Given the description of an element on the screen output the (x, y) to click on. 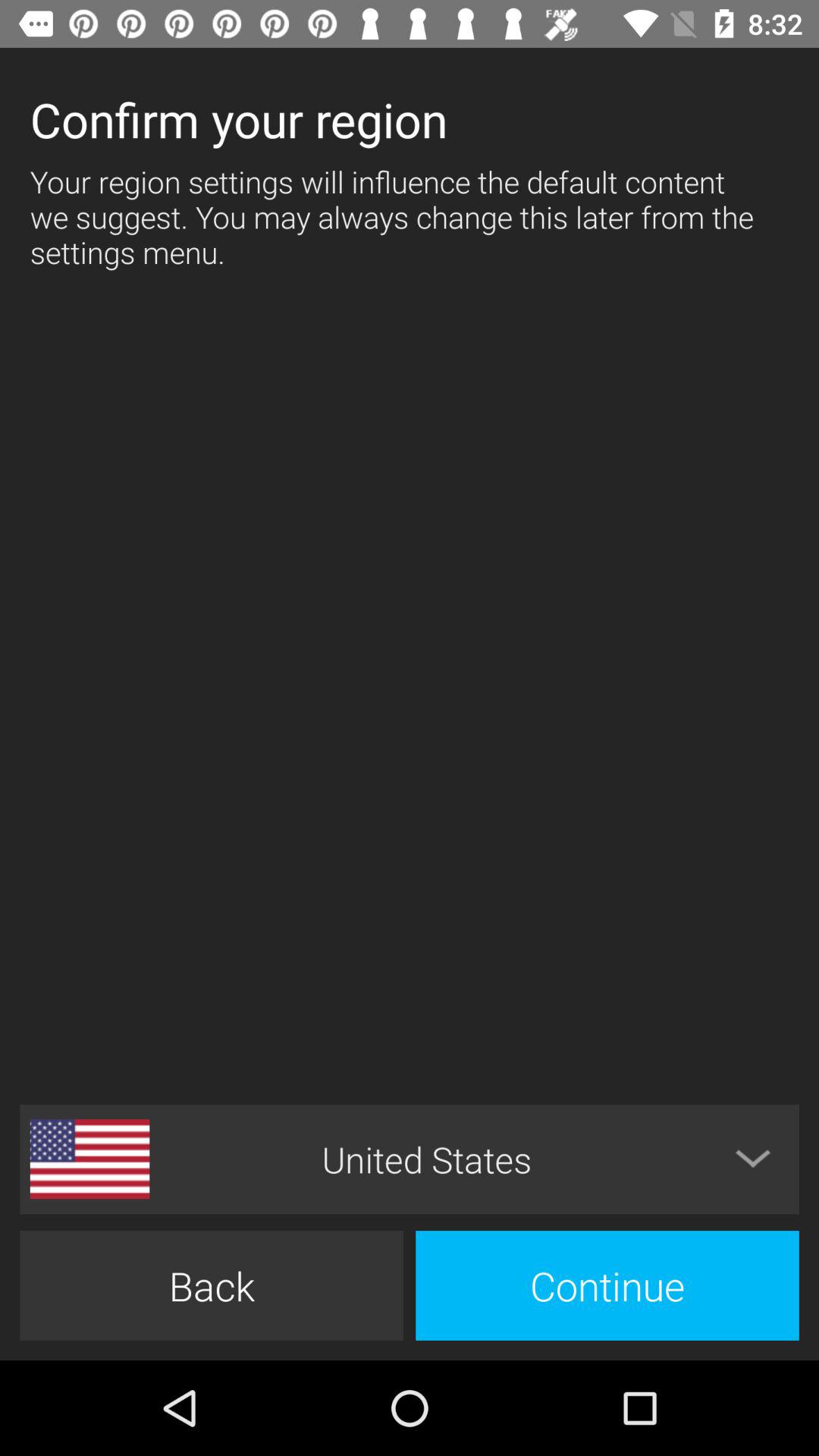
select icon next to back item (607, 1285)
